Given the description of an element on the screen output the (x, y) to click on. 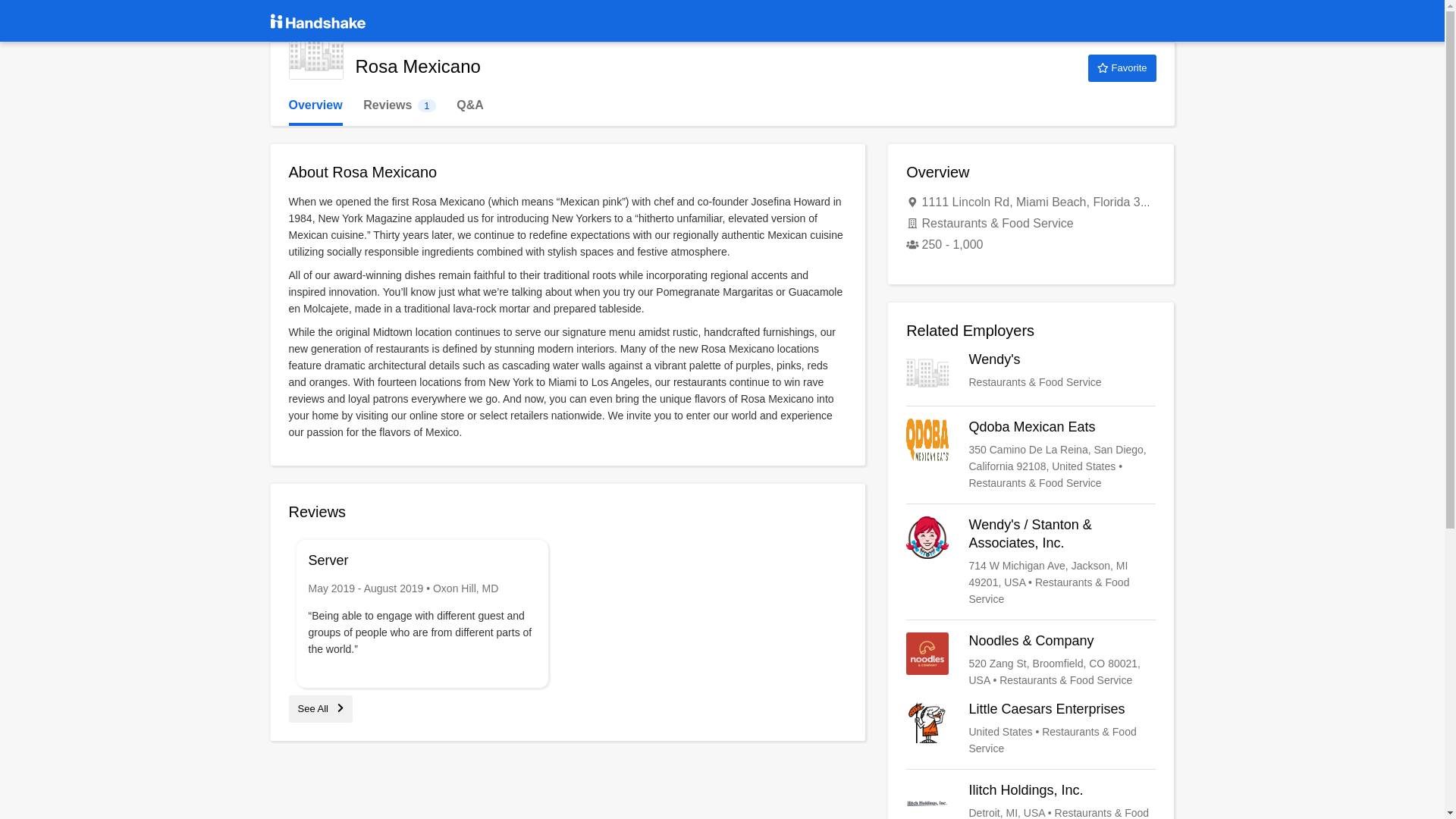
Overview (315, 105)
See All (320, 708)
Ilitch Holdings, Inc. (1030, 800)
Rosa Mexicano (315, 52)
Favorite (398, 105)
Qdoba Mexican Eats (1121, 67)
Little Caesars Enterprises (1030, 454)
Wendy's (1030, 728)
